Given the description of an element on the screen output the (x, y) to click on. 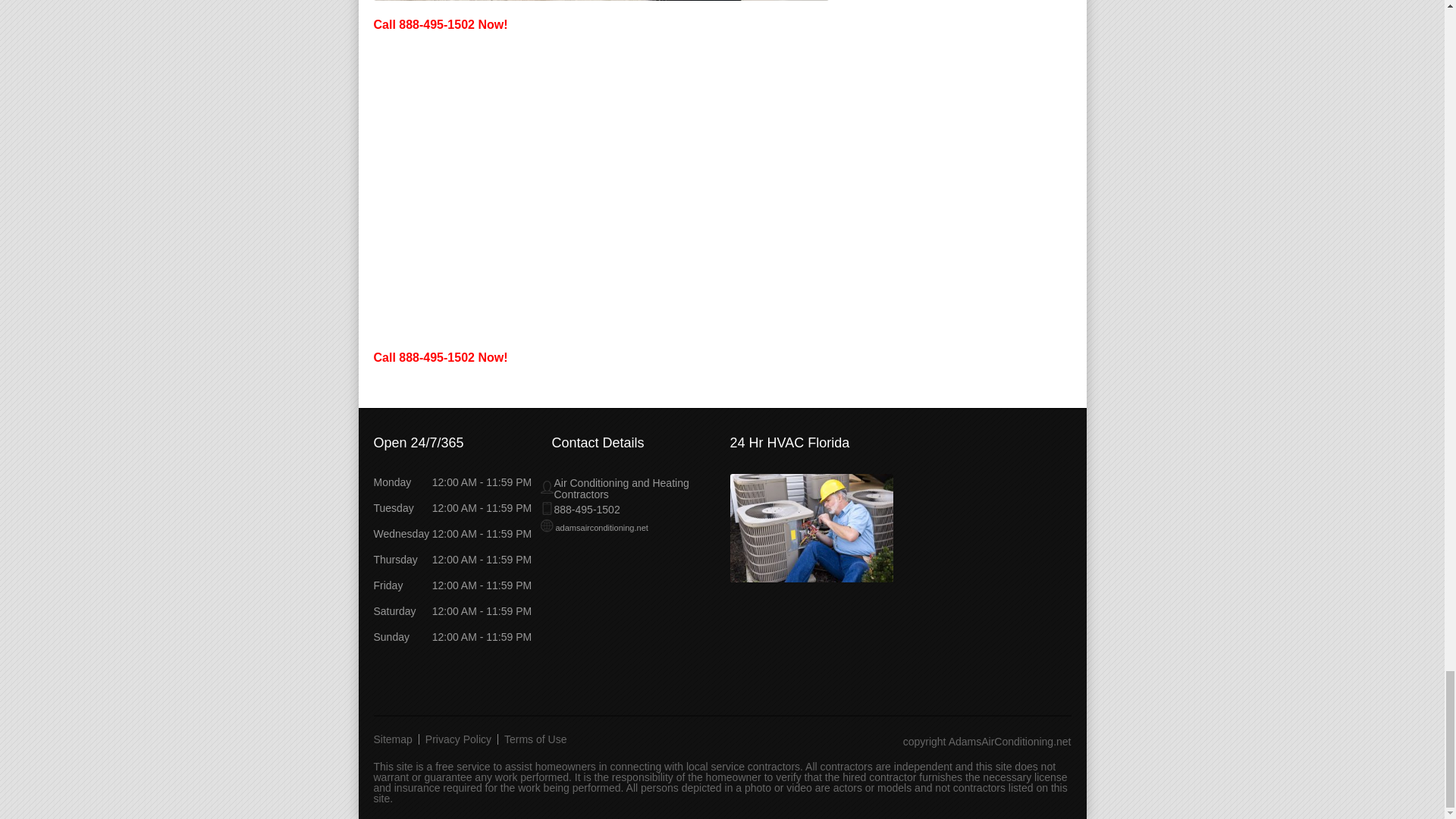
adamsairconditioning.net (593, 527)
Sitemap (395, 738)
Call 888-495-1502 Now! (439, 357)
Call 888-495-1502 Now! (439, 24)
Privacy Policy (458, 738)
Terms of Use (534, 738)
